Given the description of an element on the screen output the (x, y) to click on. 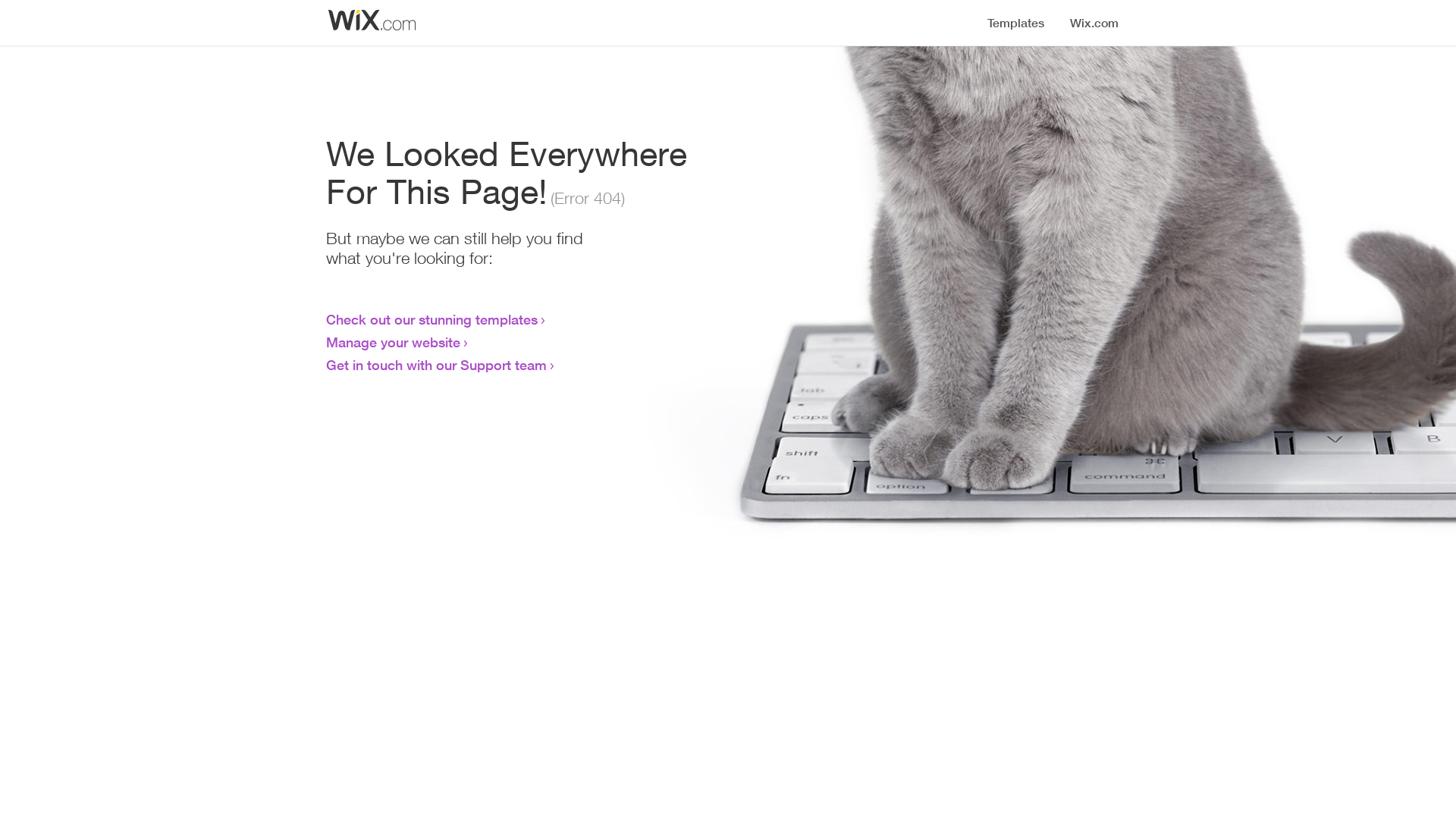
Check out our stunning templates Element type: text (431, 318)
Manage your website Element type: text (393, 341)
Get in touch with our Support team Element type: text (436, 364)
